Given the description of an element on the screen output the (x, y) to click on. 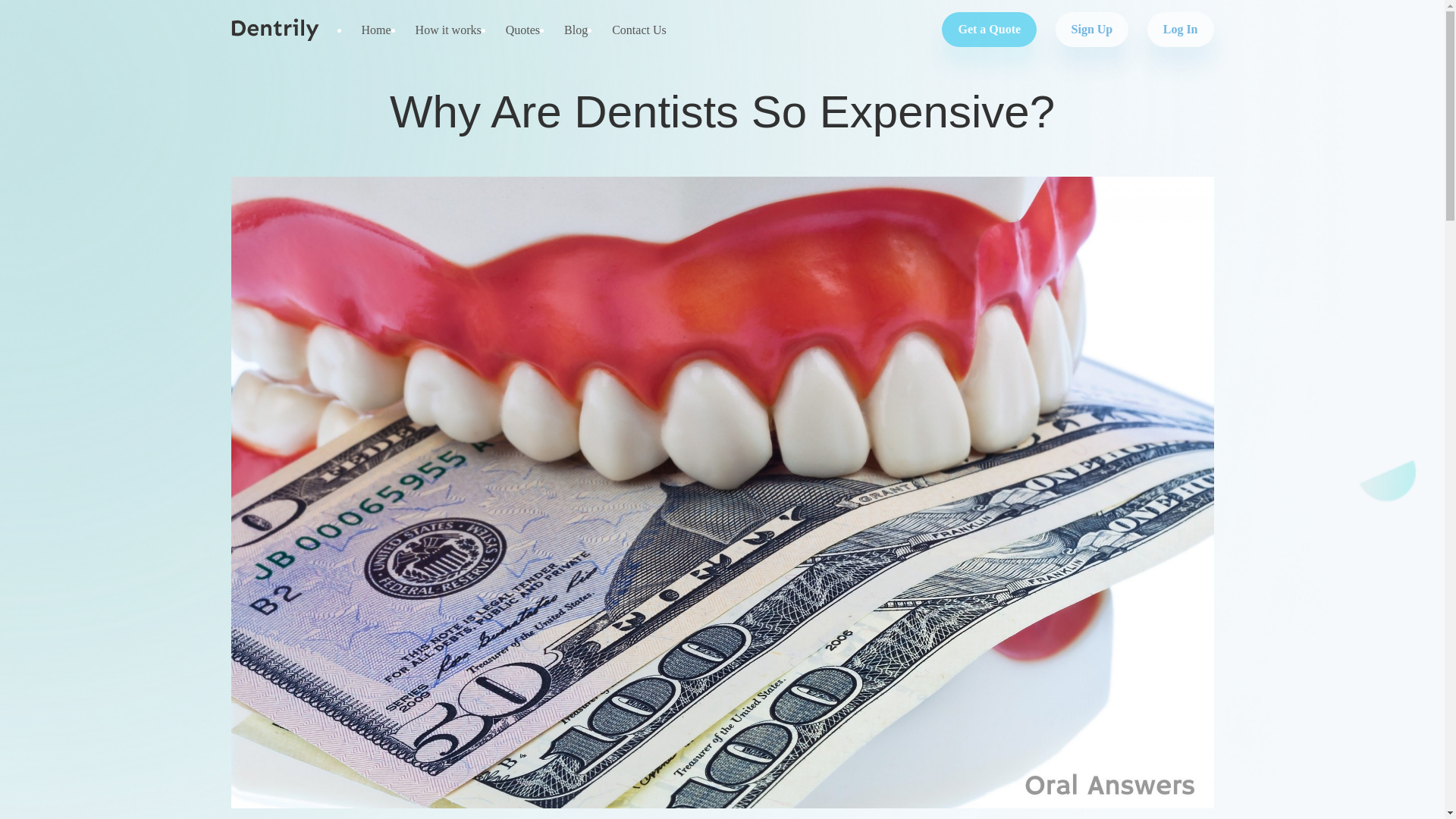
Sign Up (1092, 29)
Blog (575, 29)
Home (376, 29)
Get a Quote (981, 28)
Get a Quote (989, 29)
Contact Us (638, 29)
How it works (448, 29)
Log In (1180, 29)
Log In (1173, 28)
Quotes (522, 29)
